Given the description of an element on the screen output the (x, y) to click on. 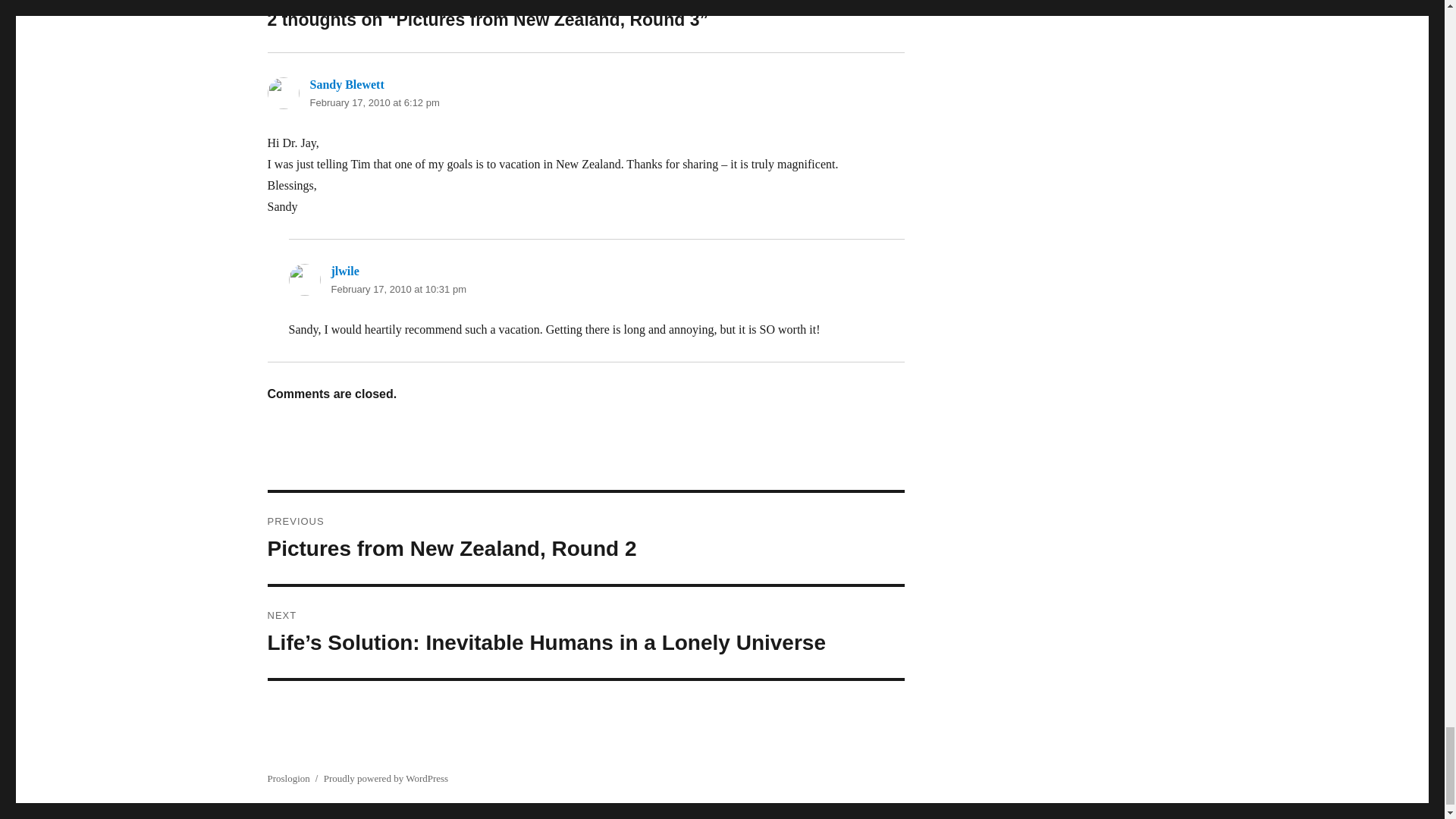
February 17, 2010 at 6:12 pm (585, 538)
jlwile (373, 102)
Sandy Blewett (344, 270)
February 17, 2010 at 10:31 pm (346, 83)
